Given the description of an element on the screen output the (x, y) to click on. 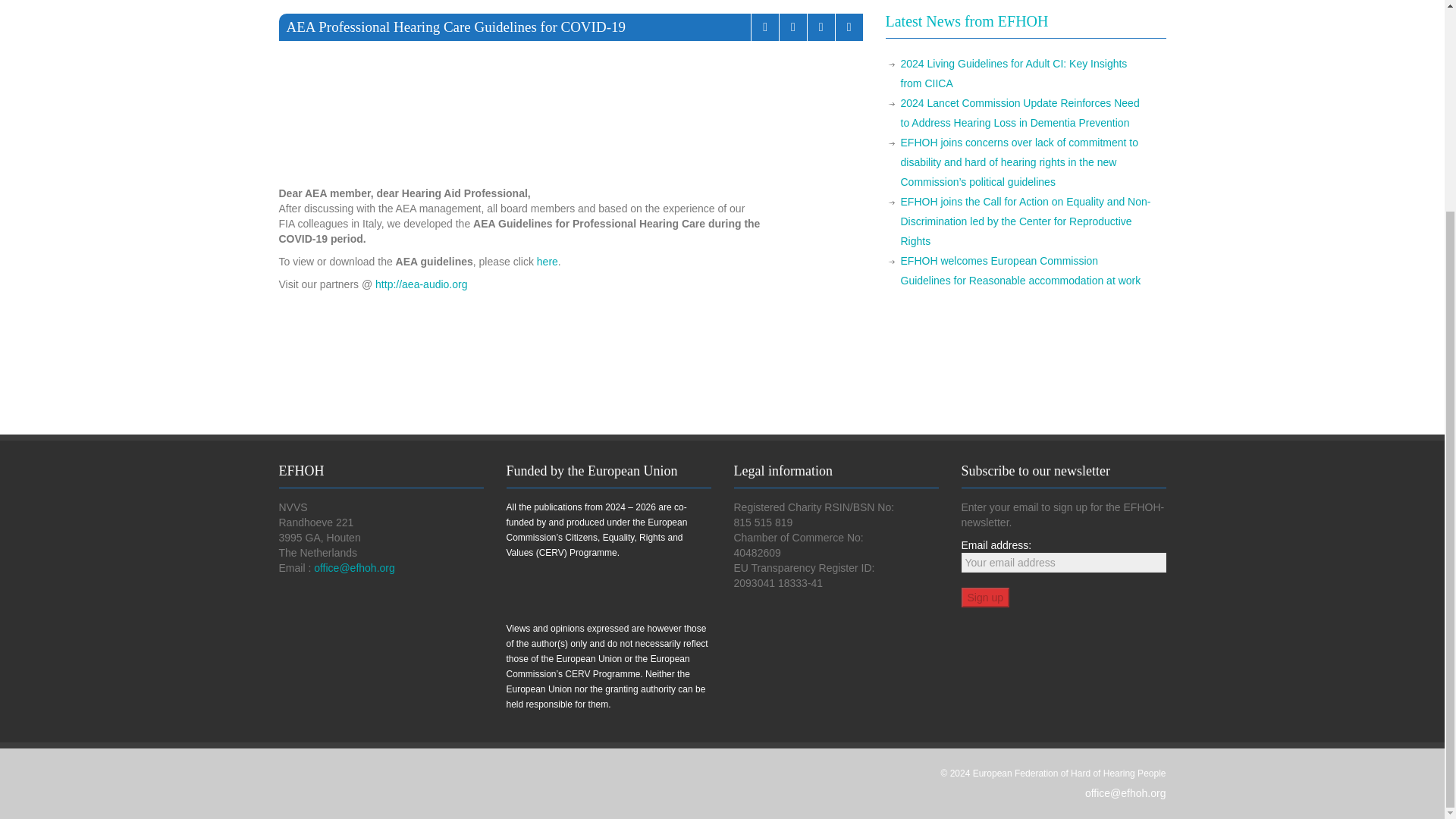
Share on Linkedin (792, 26)
Share on Twitter (848, 26)
Sign up (984, 597)
Share on Google Plus (764, 26)
Share on Facebook (820, 26)
